Given the description of an element on the screen output the (x, y) to click on. 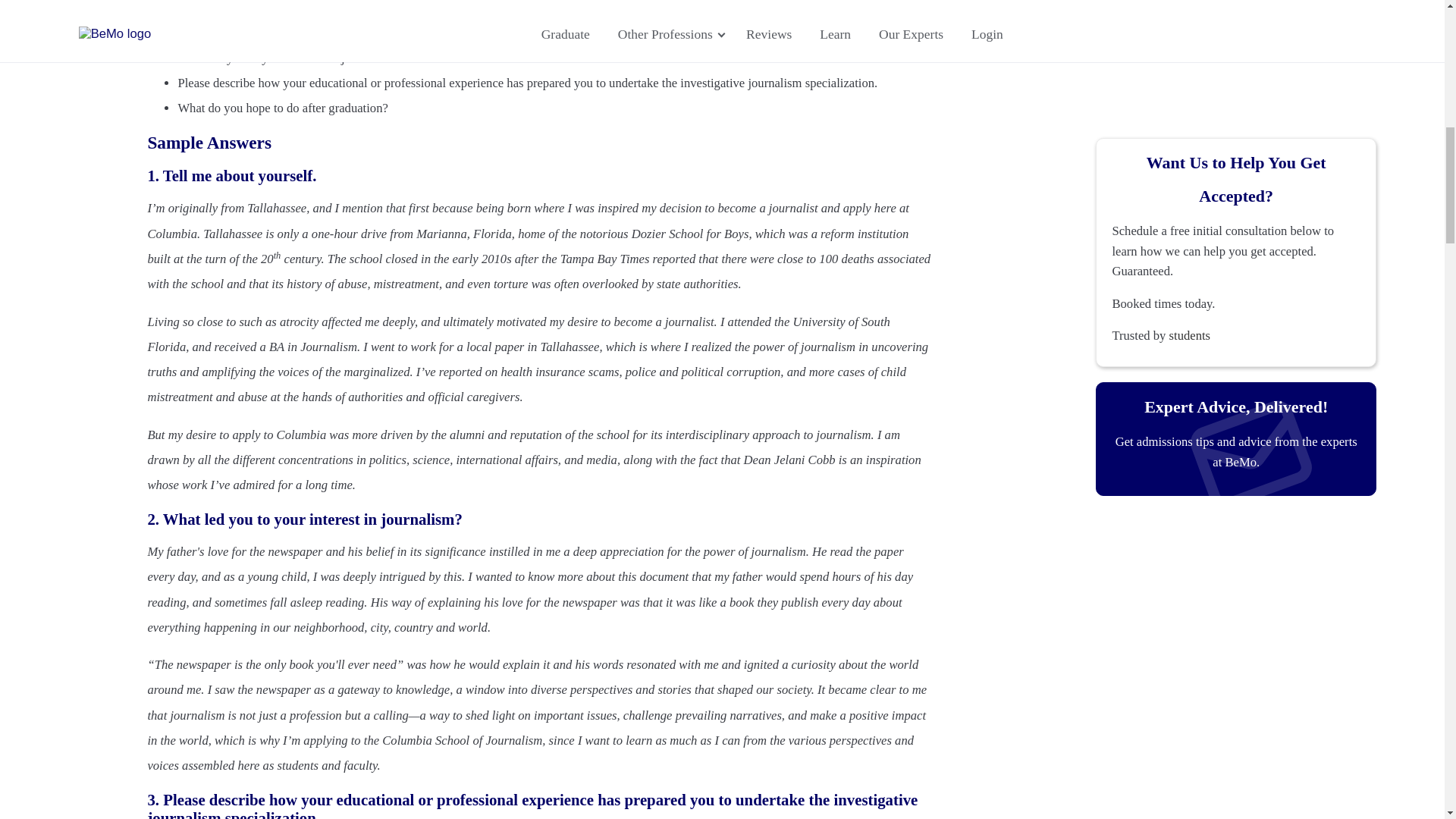
Tell me about yourself. (235, 32)
